Given the description of an element on the screen output the (x, y) to click on. 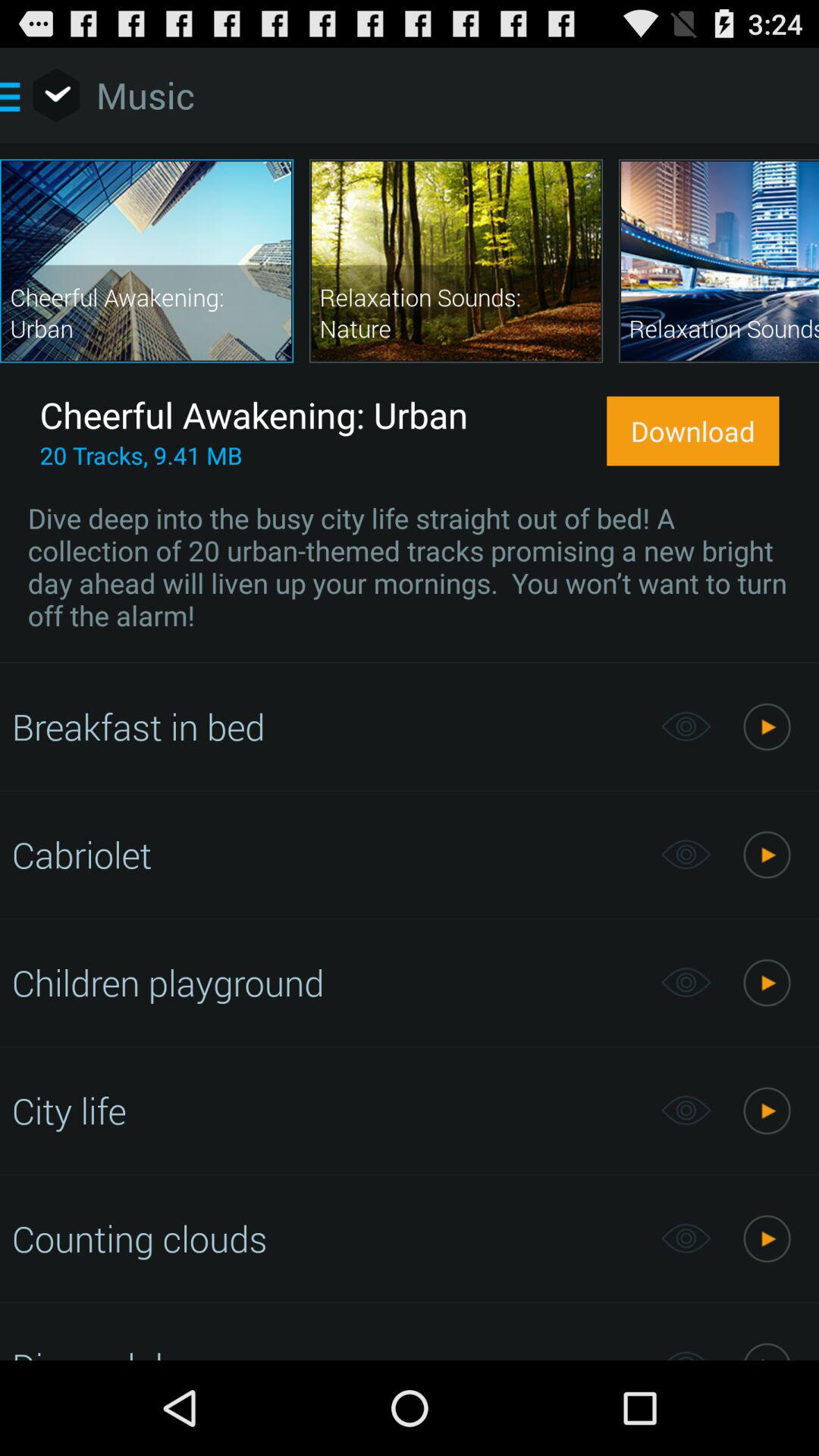
swipe to disco club (327, 1351)
